Given the description of an element on the screen output the (x, y) to click on. 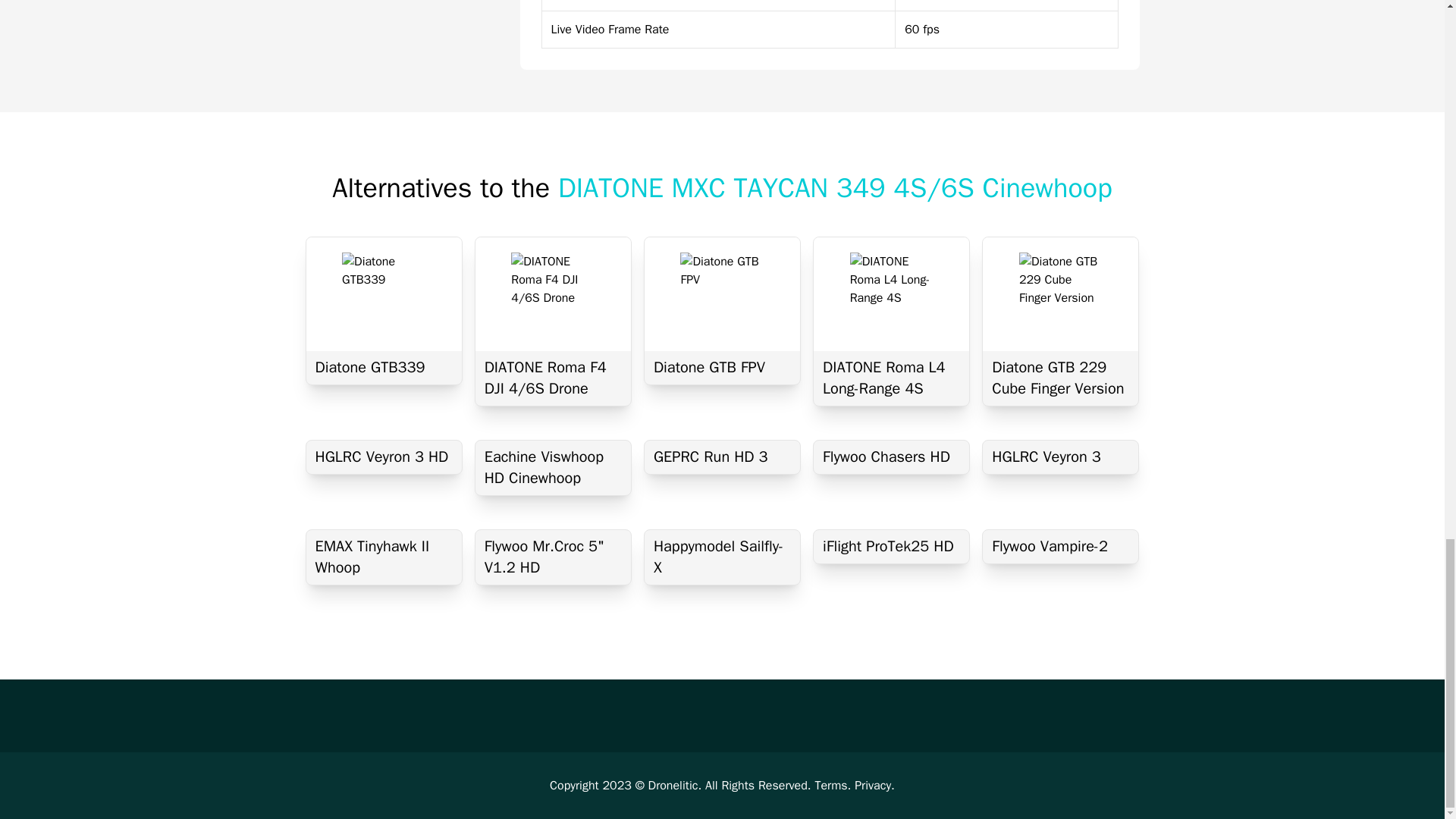
HGLRC Veyron 3 (1060, 457)
Diatone GTB FPV (722, 367)
Diatone GTB 229 Cube Finger Version (1060, 378)
Flywoo Chasers HD (891, 457)
EMAX Tinyhawk II Whoop (383, 556)
DIATONE Roma L4 Long-Range 4S (891, 378)
Diatone GTB339 (383, 367)
Eachine Viswhoop HD Cinewhoop (553, 467)
HGLRC Veyron 3 HD (383, 457)
GEPRC Run HD 3 (722, 457)
